Given the description of an element on the screen output the (x, y) to click on. 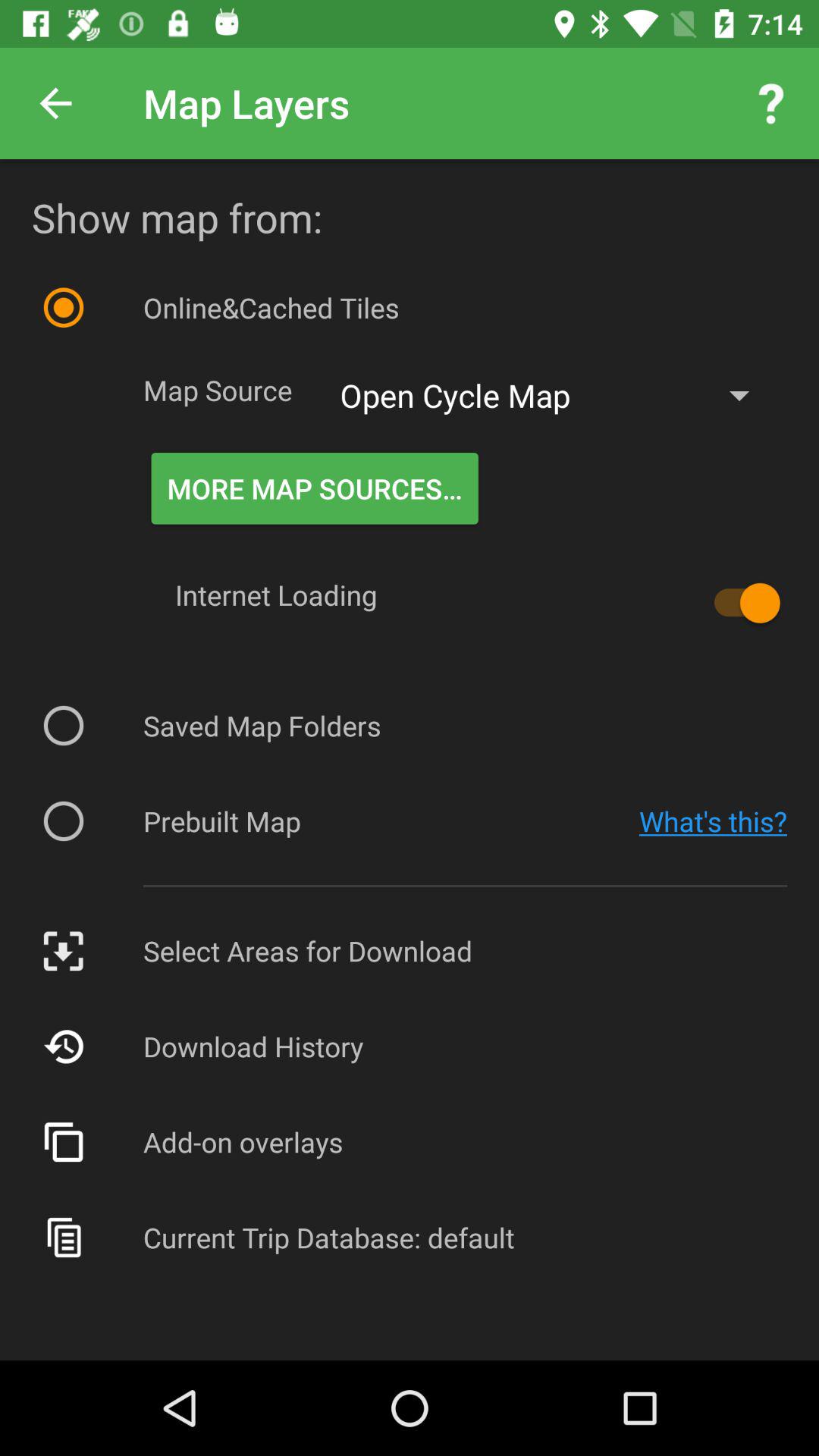
toggle on or off (739, 603)
